Given the description of an element on the screen output the (x, y) to click on. 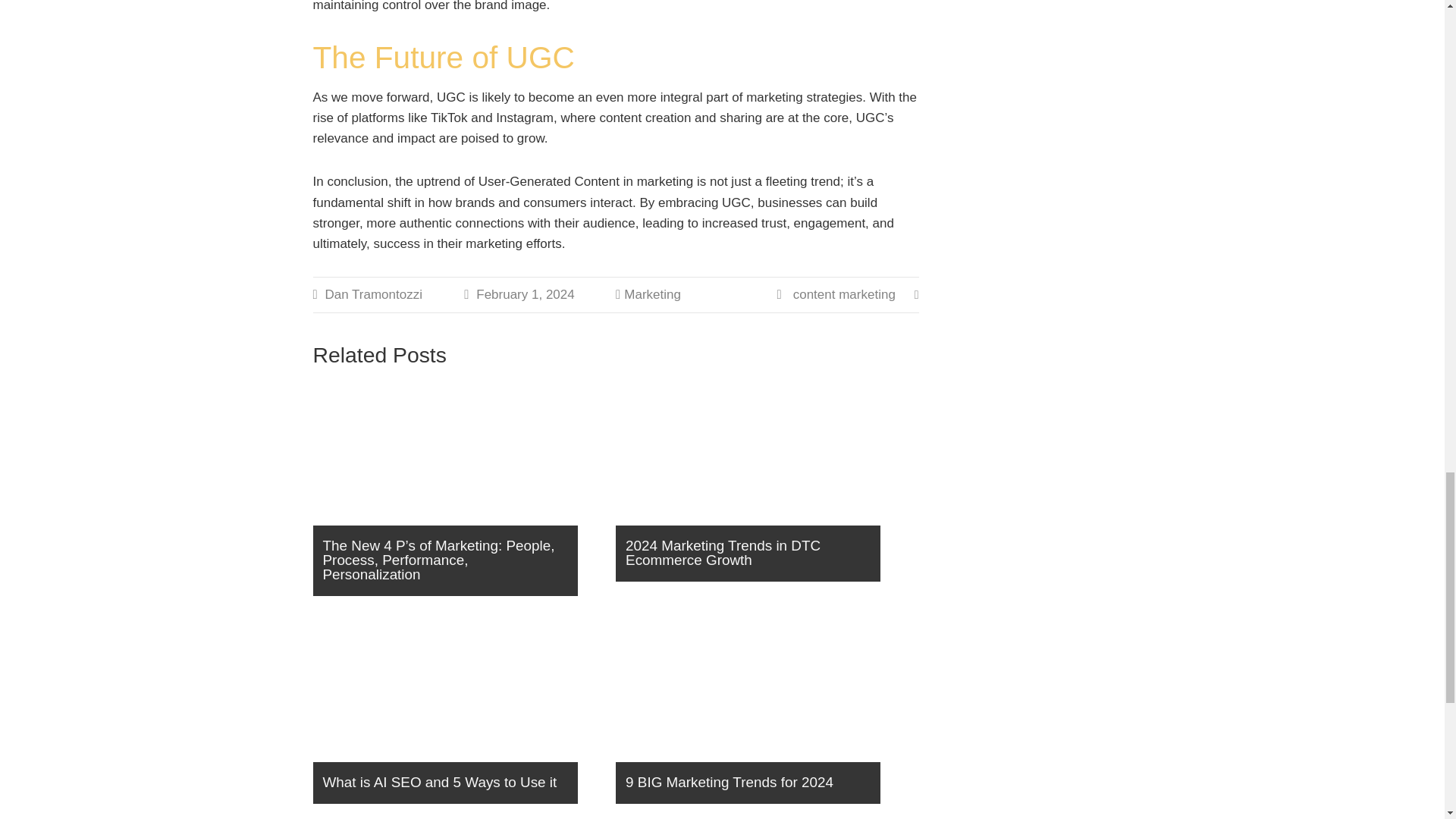
What is AI SEO and 5 Ways to Use it (458, 716)
Marketing (652, 294)
content marketing (844, 294)
2024 Marketing Trends in DTC Ecommerce Growth (761, 487)
Dan Tramontozzi (373, 294)
9 BIG Marketing Trends for 2024 (761, 716)
